Given the description of an element on the screen output the (x, y) to click on. 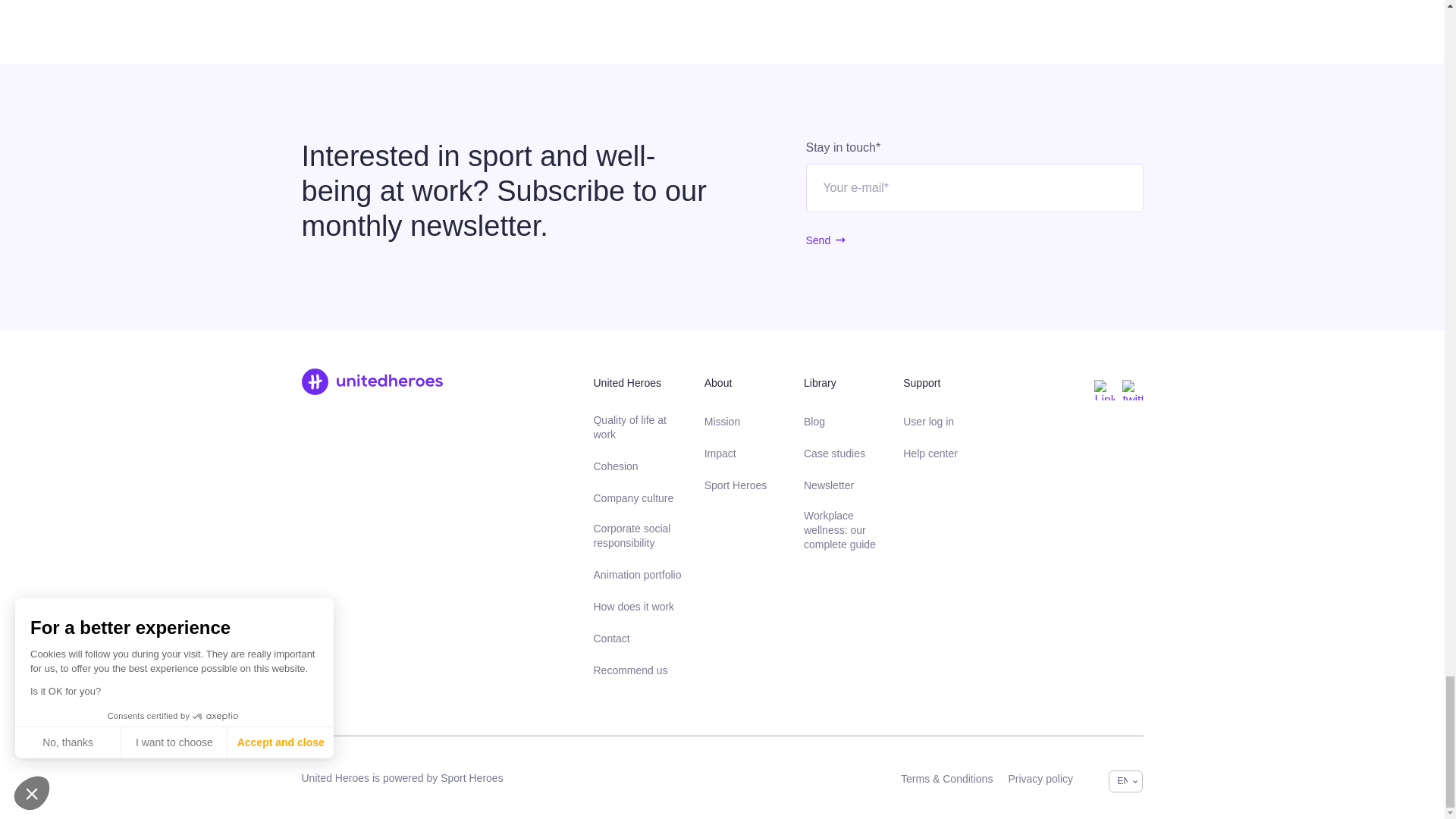
Send (817, 240)
Quality of life at work (636, 428)
Send (817, 240)
